Given the description of an element on the screen output the (x, y) to click on. 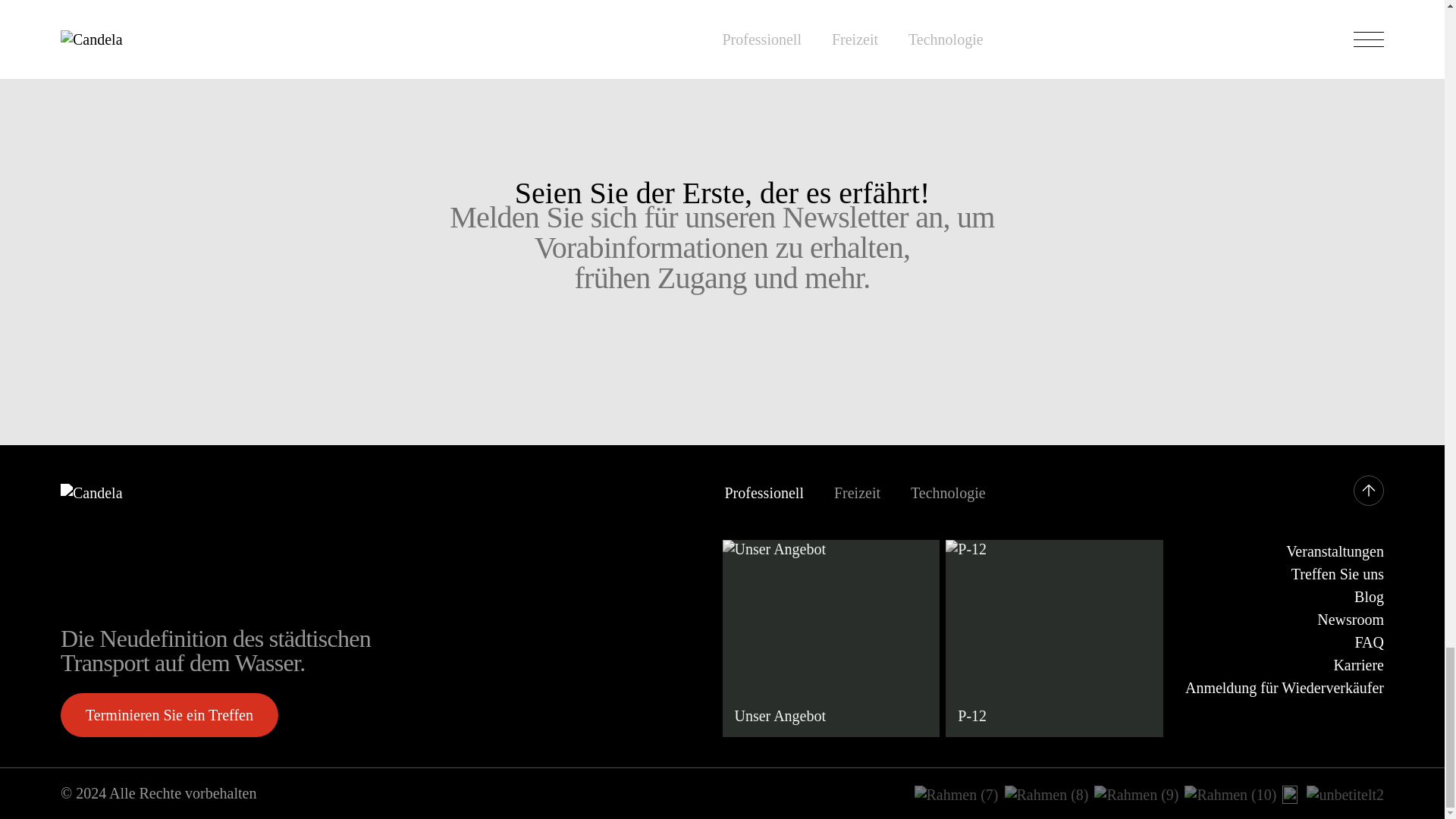
Freizeit (857, 493)
P-12 (1053, 638)
Unser Angebot (830, 638)
Terminieren Sie ein Treffen (169, 714)
Technologie (948, 493)
Professionell (764, 493)
